Given the description of an element on the screen output the (x, y) to click on. 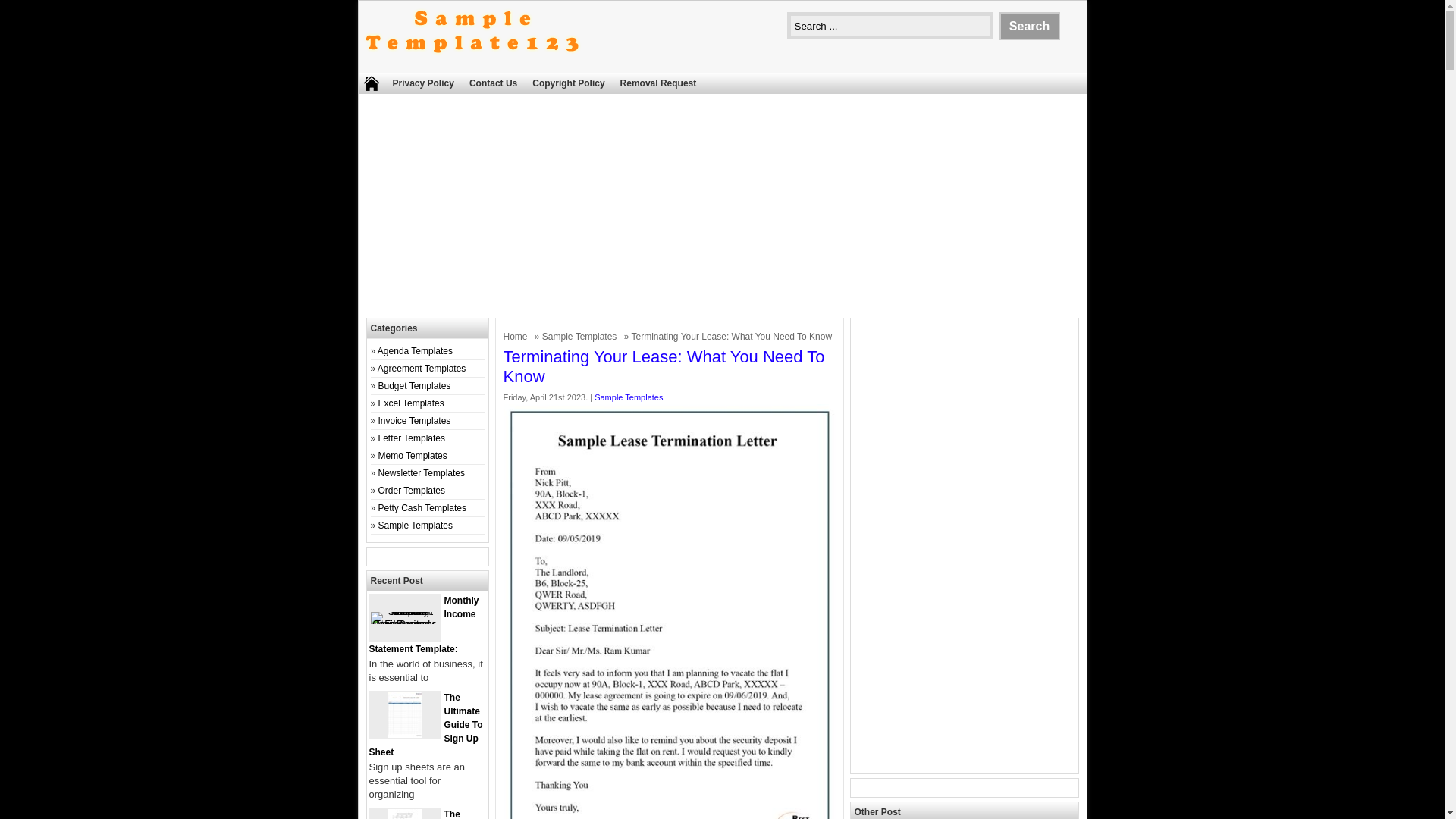
Memo Templates (412, 455)
Contact Us (492, 83)
Sample Templates (415, 525)
Search ...  (889, 25)
Petty Cash Templates (422, 507)
Removal Request (658, 83)
Agenda Templates (414, 350)
Invoice Templates (414, 420)
Copyright Policy (567, 83)
Home (517, 336)
Sample Templates (628, 397)
Budget Templates (414, 385)
